Given the description of an element on the screen output the (x, y) to click on. 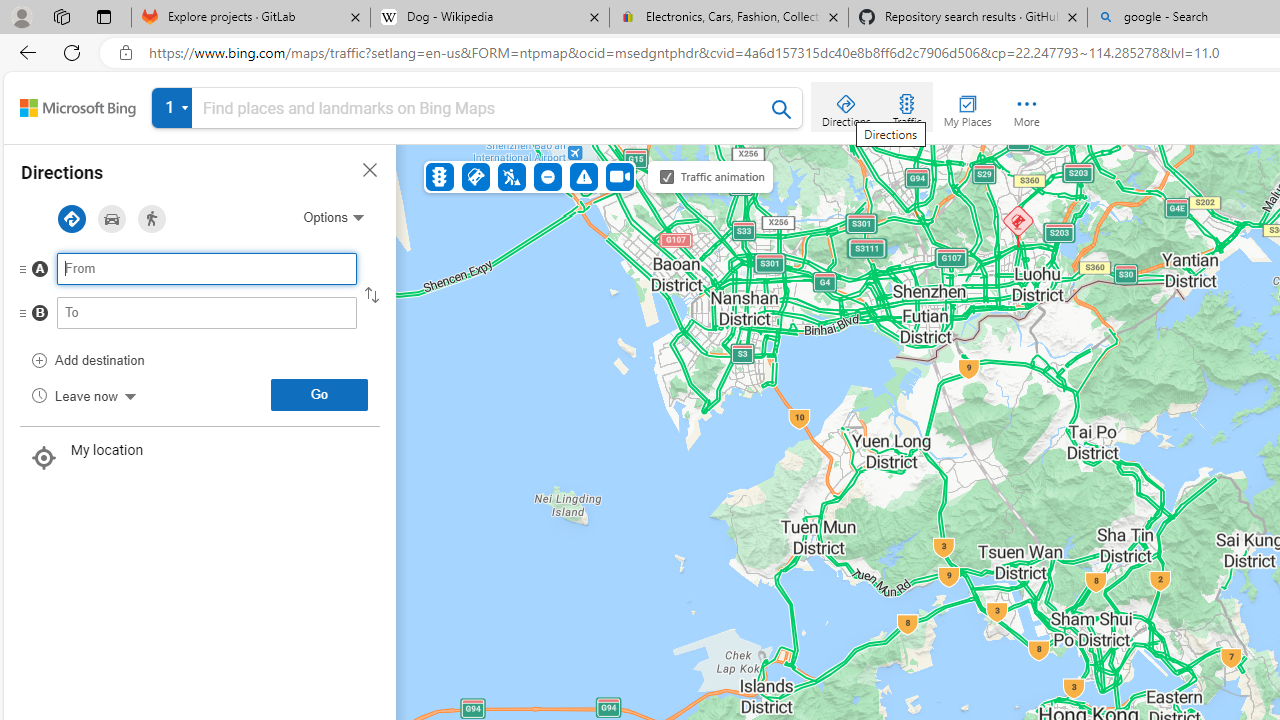
1 (477, 111)
Drag to reorder (38, 313)
Add a search (482, 107)
Back to Bing search (77, 107)
Add destination (88, 359)
More (1026, 106)
Walking (152, 219)
Cameras (619, 176)
Accidents (476, 176)
More (1026, 106)
Search Bing Maps (781, 109)
Recommended (71, 219)
Options (333, 217)
B (167, 318)
